Given the description of an element on the screen output the (x, y) to click on. 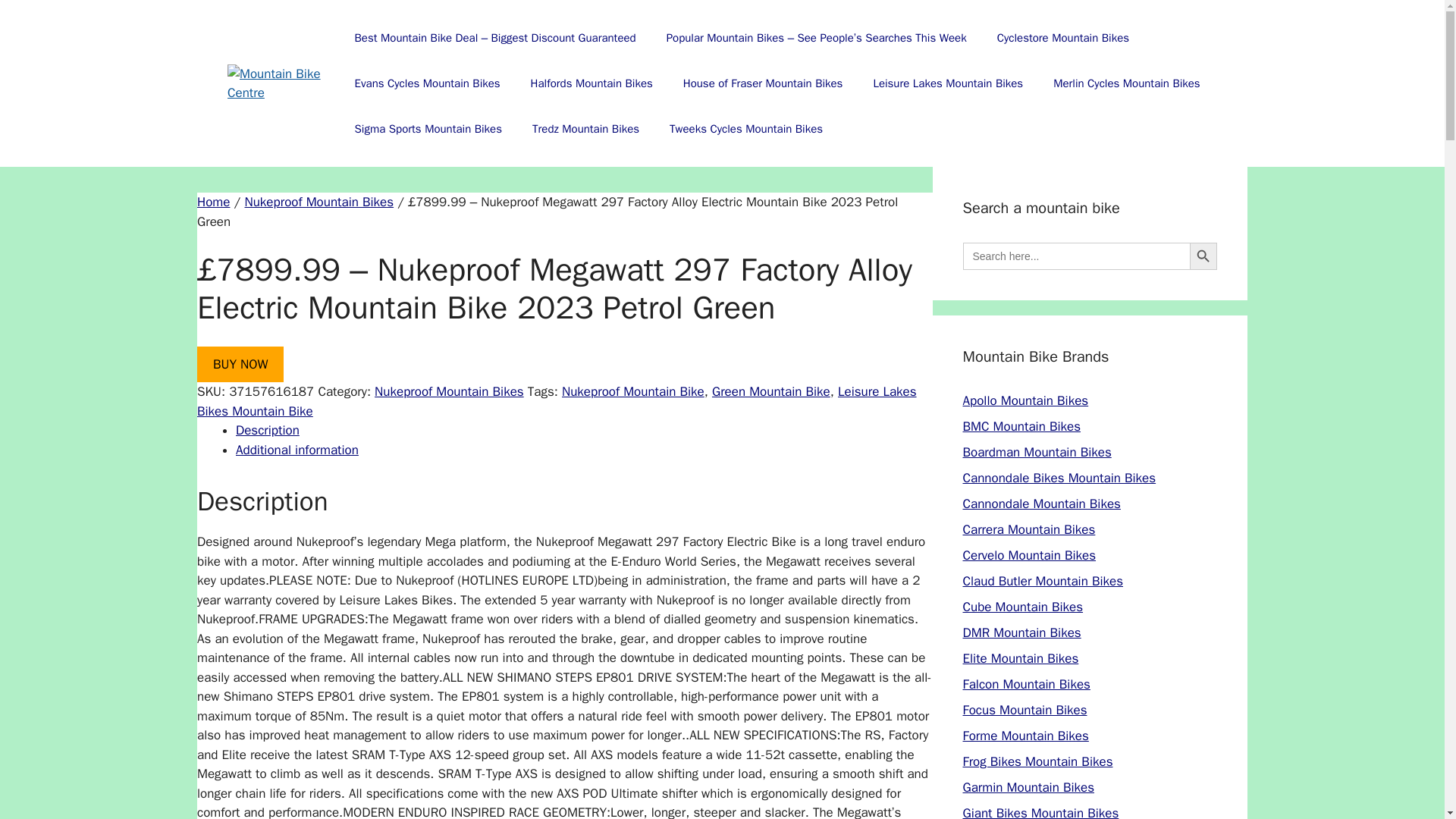
Cyclestore Mountain Bikes (1062, 37)
Nukeproof Mountain Bikes (318, 201)
Cyclestore Mountain Bikes (1062, 37)
Tredz Limited Mountain Bikes (584, 128)
Halfords Mountain Bikes (591, 83)
Additional information (296, 449)
Evans Cycles Mountain Bikes (427, 83)
House of Fraser Mountain Bikes (763, 83)
Nukeproof Mountain Bikes (449, 391)
Leisure Lakes Bikes Mountain Bikes (947, 83)
Tweeks Cycles Mountain Bikes (745, 128)
Leisure Lakes Bikes Mountain Bike (556, 401)
Home (213, 201)
Tweeks Cycles Mountain Bikes (745, 128)
Sigma Sports Mountain Bikes (427, 128)
